Given the description of an element on the screen output the (x, y) to click on. 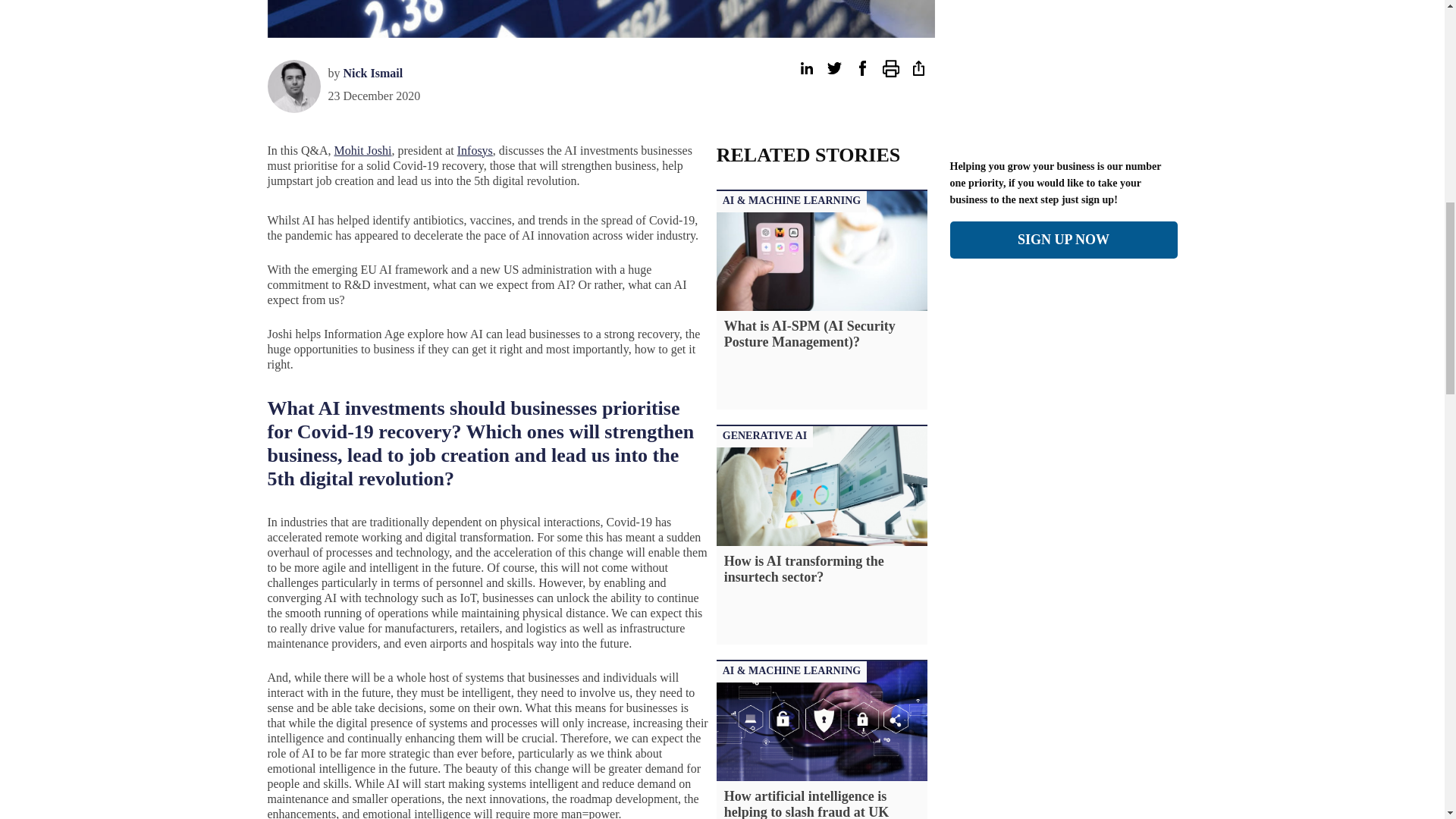
3rd party ad content (195, 5)
Share on Facebook (861, 67)
Print this article (890, 67)
Tweet this article (835, 67)
3rd party ad content (1249, 5)
Share on LinkedIn (805, 67)
